Given the description of an element on the screen output the (x, y) to click on. 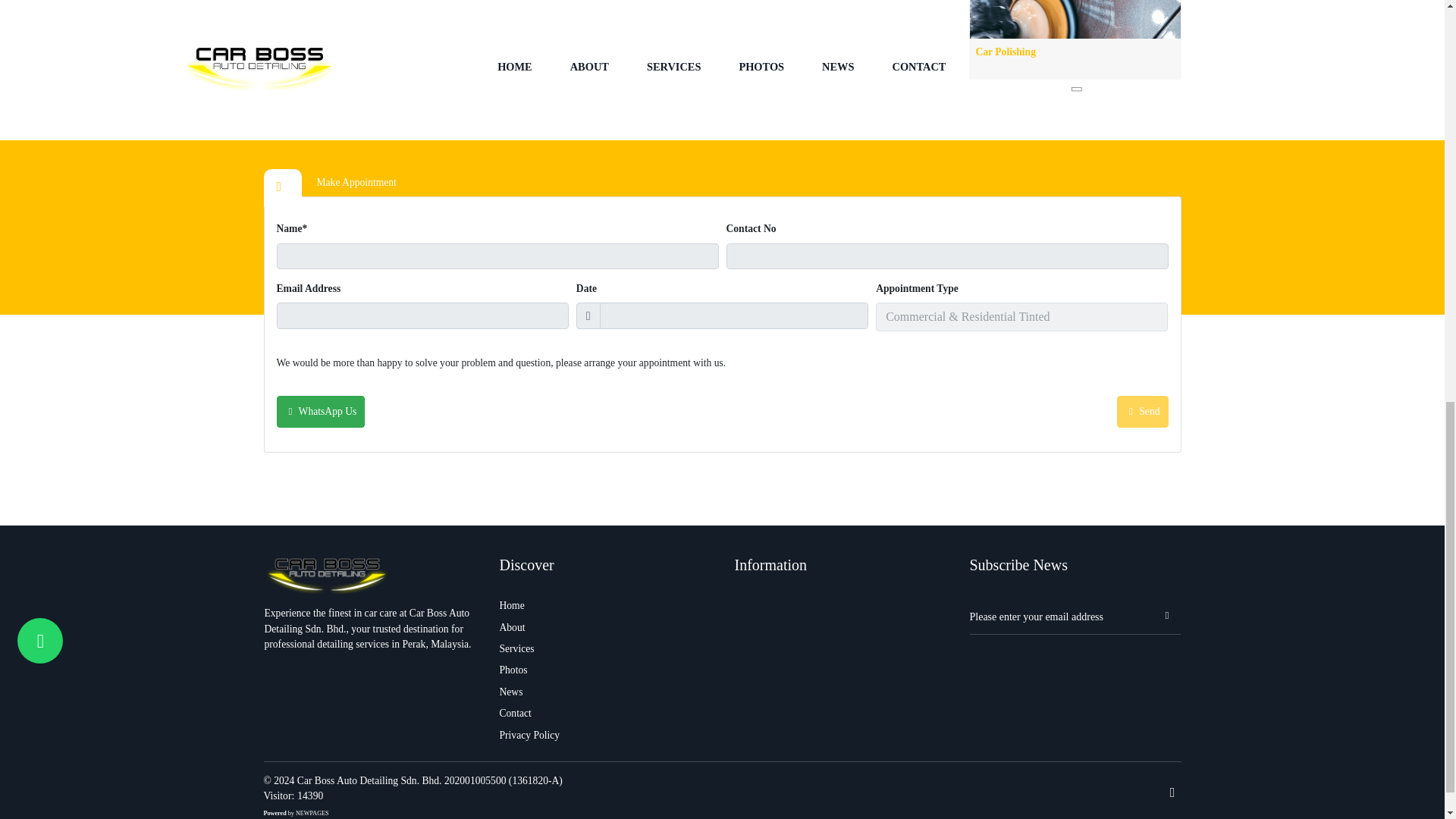
Car Polishing (1074, 39)
